Given the description of an element on the screen output the (x, y) to click on. 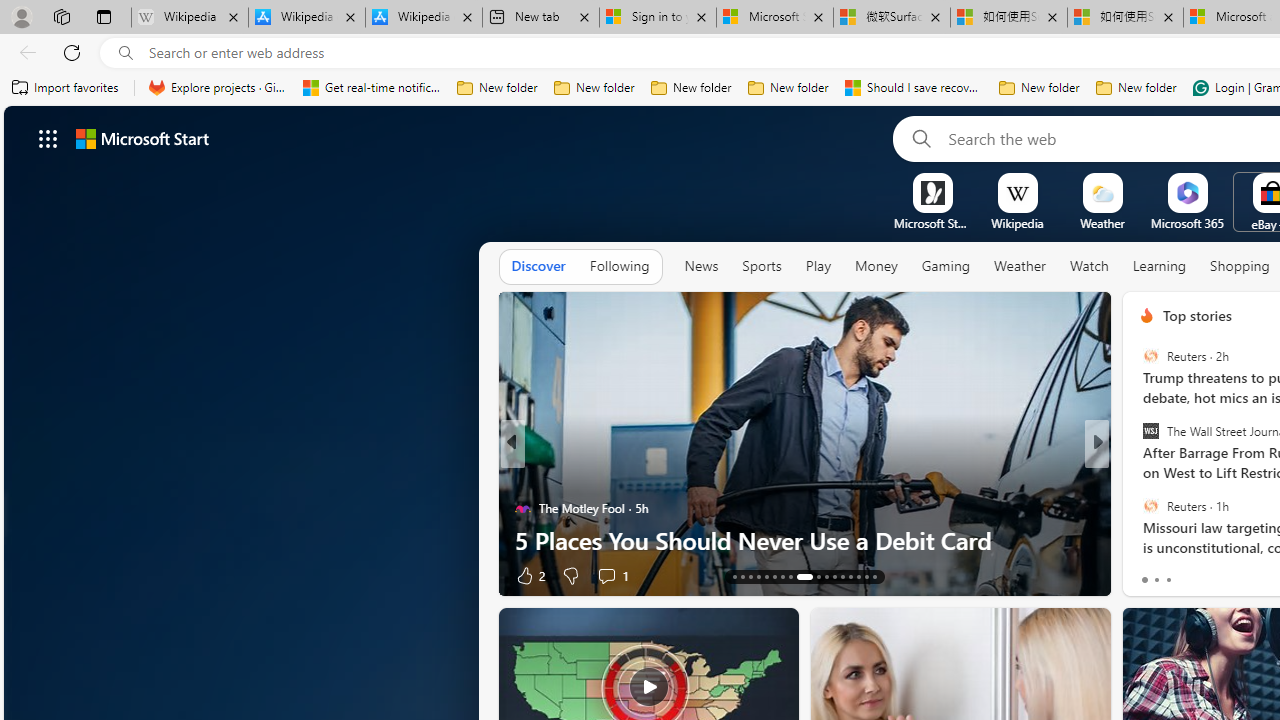
20 Like (1149, 574)
Microsoft Services Agreement (774, 17)
AutomationID: tab-13 (733, 576)
The Wall Street Journal (1149, 431)
Play (818, 267)
Watch (1089, 267)
Dislike (1185, 574)
Gaming (945, 267)
View comments 5 Comment (618, 574)
AutomationID: tab-19 (782, 576)
AutomationID: tab-29 (874, 576)
Learning (1159, 267)
News (701, 265)
